Given the description of an element on the screen output the (x, y) to click on. 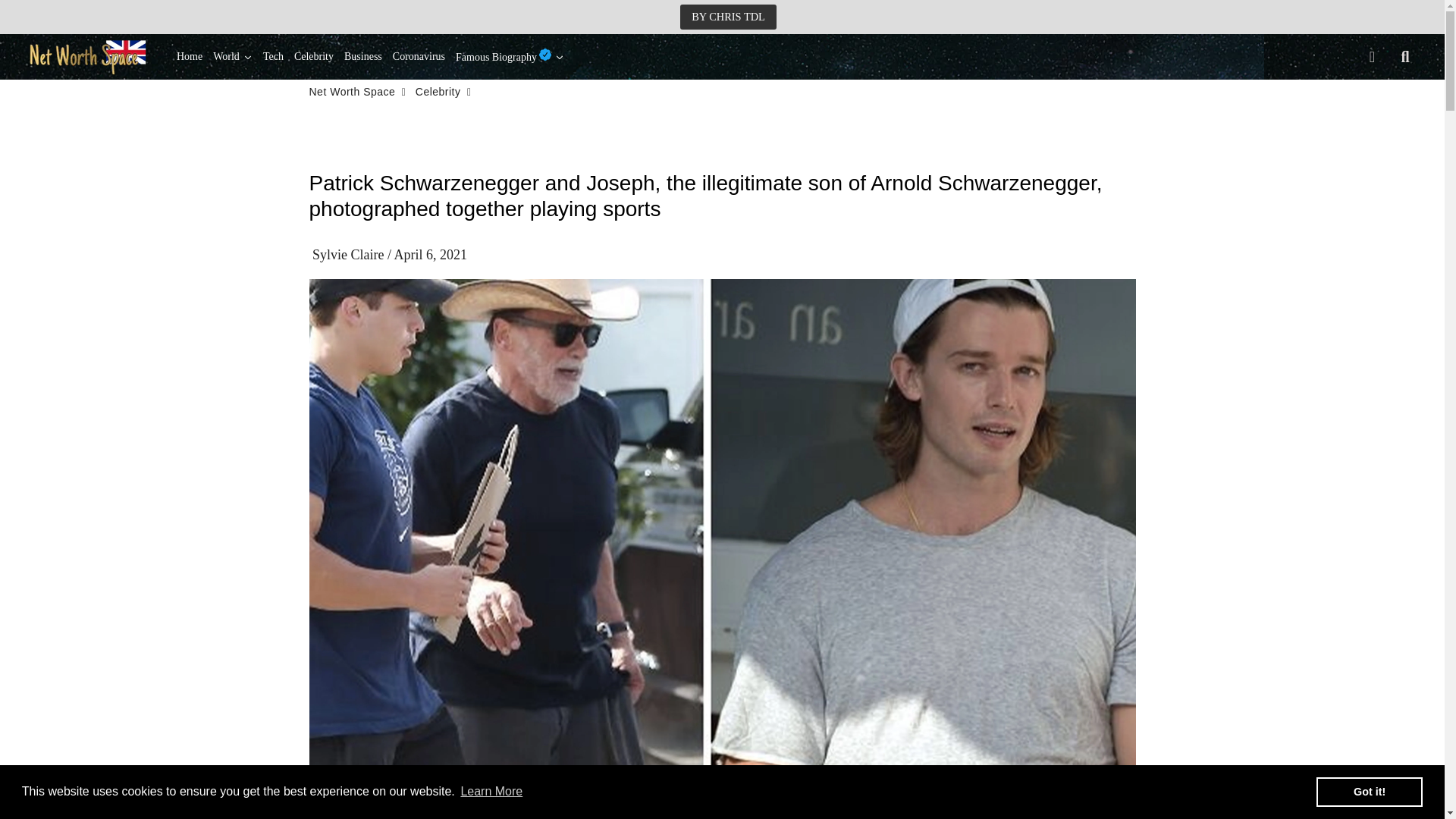
Celebrity (437, 91)
Business (363, 56)
World (232, 56)
Tech (272, 56)
Famous Biography (509, 56)
Home (189, 56)
Tech (272, 56)
Celebrity (313, 56)
World (232, 56)
Home (189, 56)
Coronavirus (418, 56)
Net Worth Space (352, 91)
Search (1405, 56)
Coronavirus (418, 56)
Got it! (1369, 791)
